Given the description of an element on the screen output the (x, y) to click on. 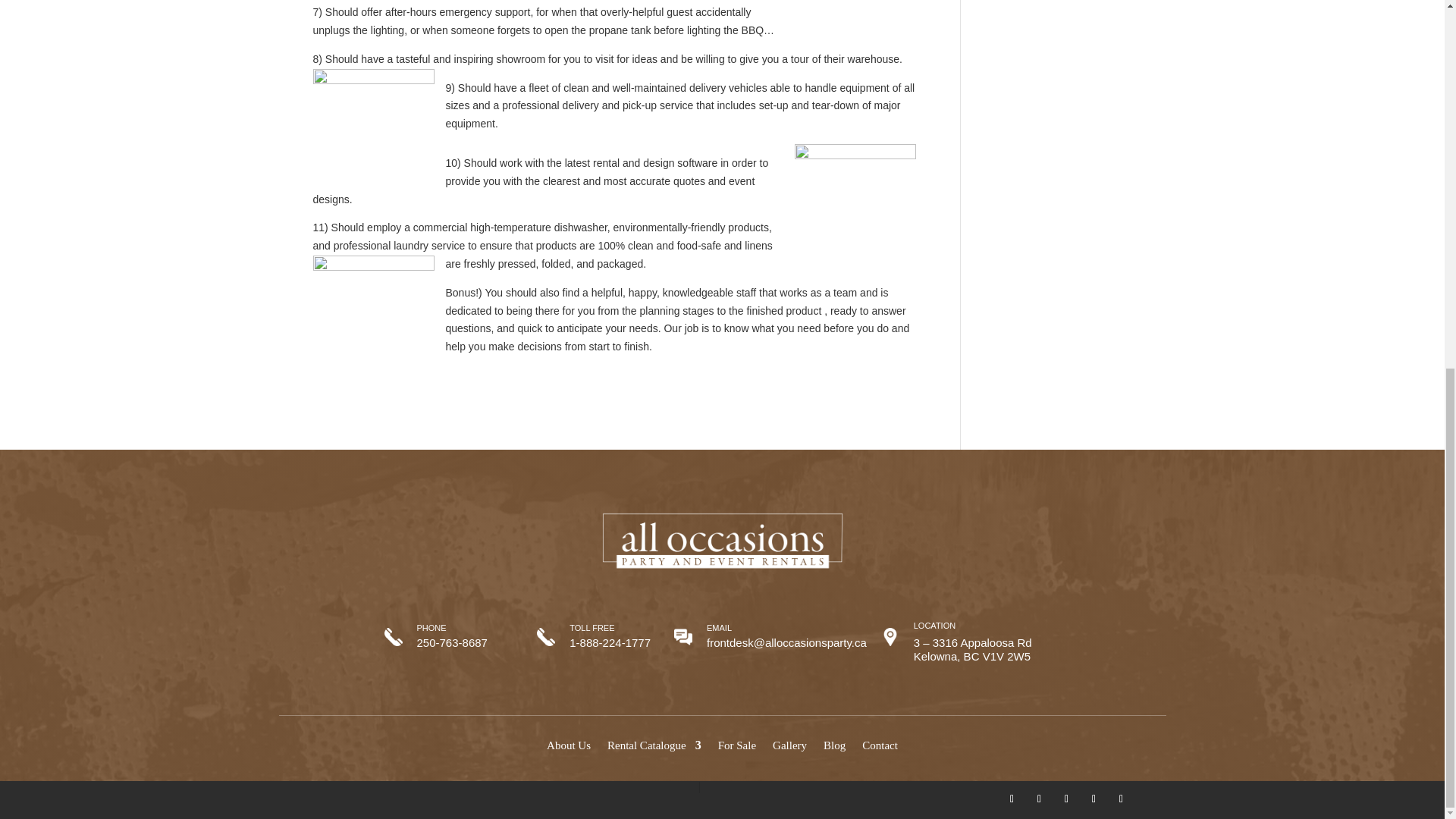
Follow on Instagram (1093, 798)
Follow on Facebook (1011, 798)
Follow on X (1038, 798)
Follow on Pinterest (1066, 798)
logowhite (722, 542)
